Given the description of an element on the screen output the (x, y) to click on. 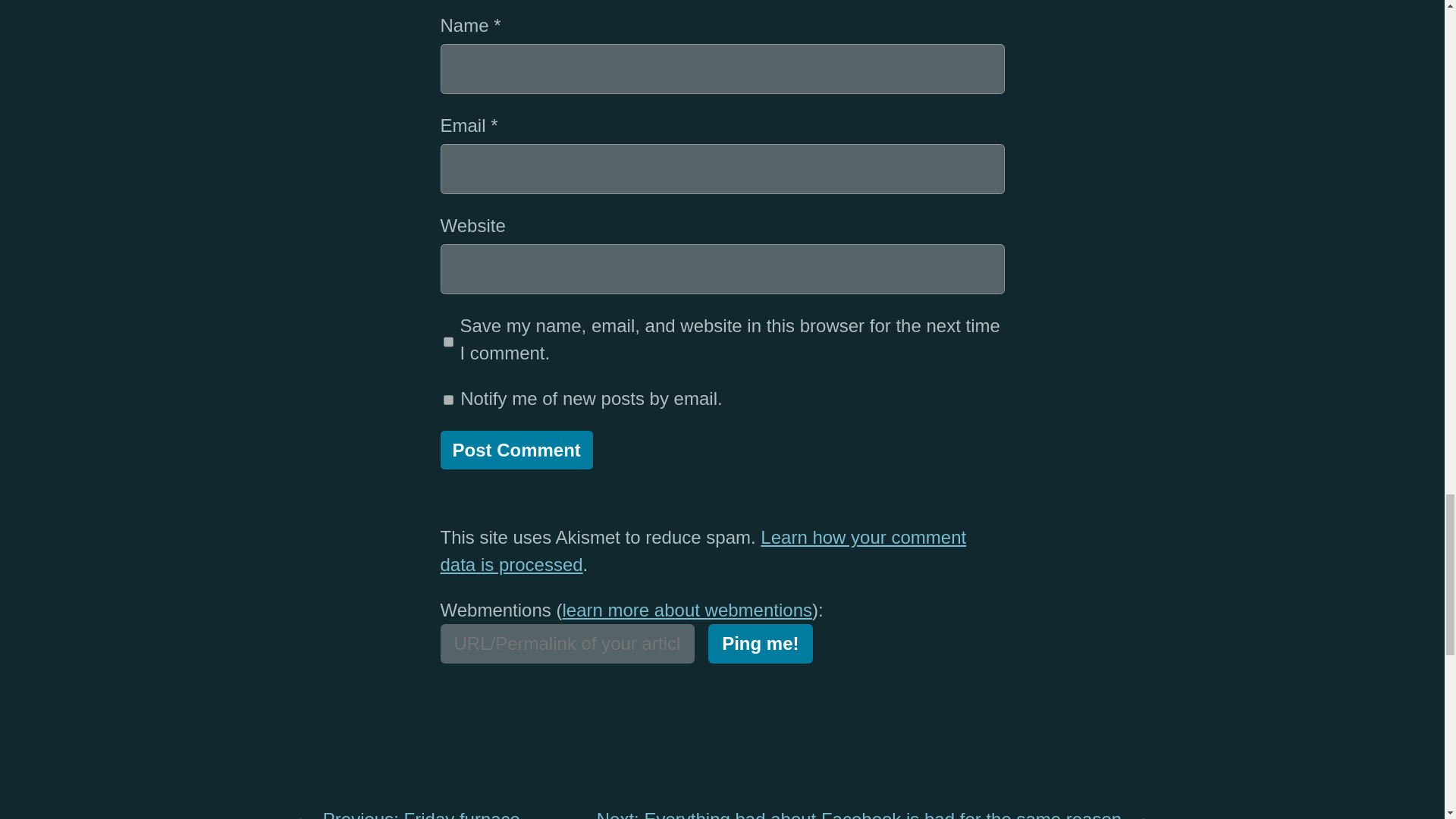
Post Comment (515, 449)
Previous: Friday furnace (421, 814)
Ping me! (759, 643)
Ping me! (759, 643)
subscribe (447, 399)
learn more about webmentions (687, 609)
Learn how your comment data is processed (702, 550)
Post Comment (515, 449)
